Given the description of an element on the screen output the (x, y) to click on. 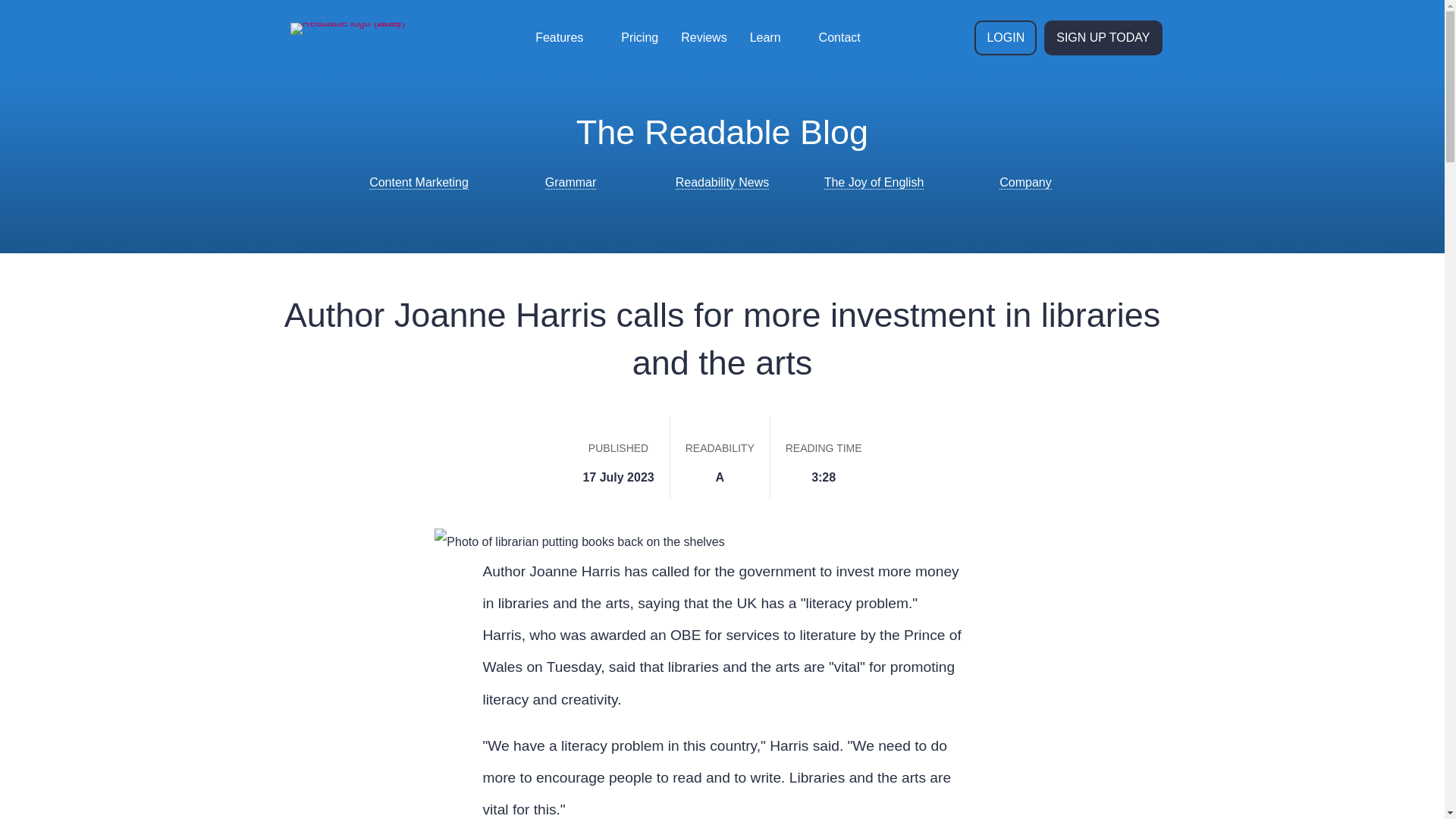
Content Marketing (418, 182)
Features (566, 37)
Learn (772, 37)
Reviews (703, 37)
Grammar (570, 182)
SIGN UP TODAY (1102, 37)
LOGIN (1005, 37)
Readability News (722, 182)
Contact (839, 37)
Company (1024, 182)
